Given the description of an element on the screen output the (x, y) to click on. 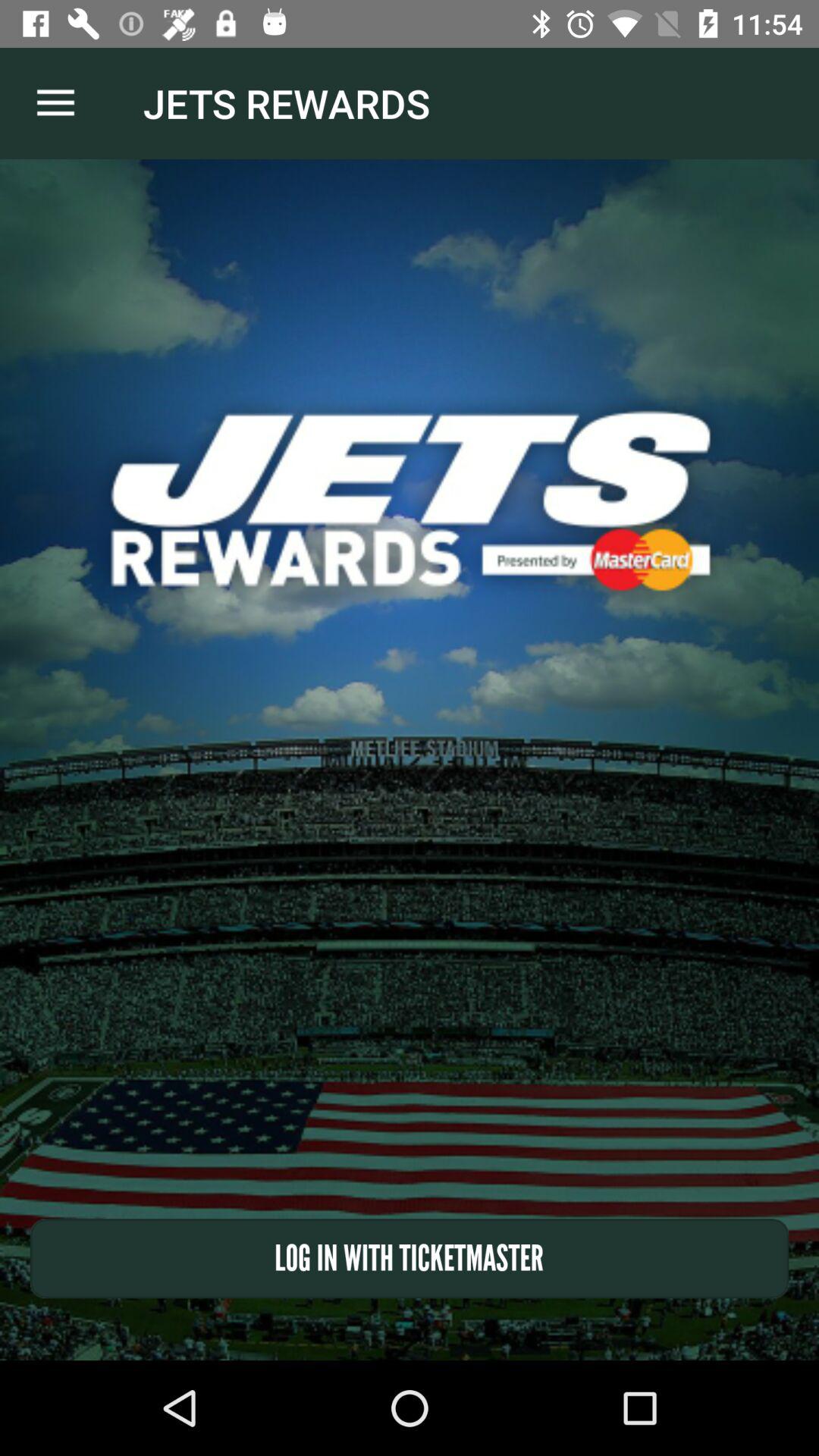
turn off item next to jets rewards item (55, 103)
